Given the description of an element on the screen output the (x, y) to click on. 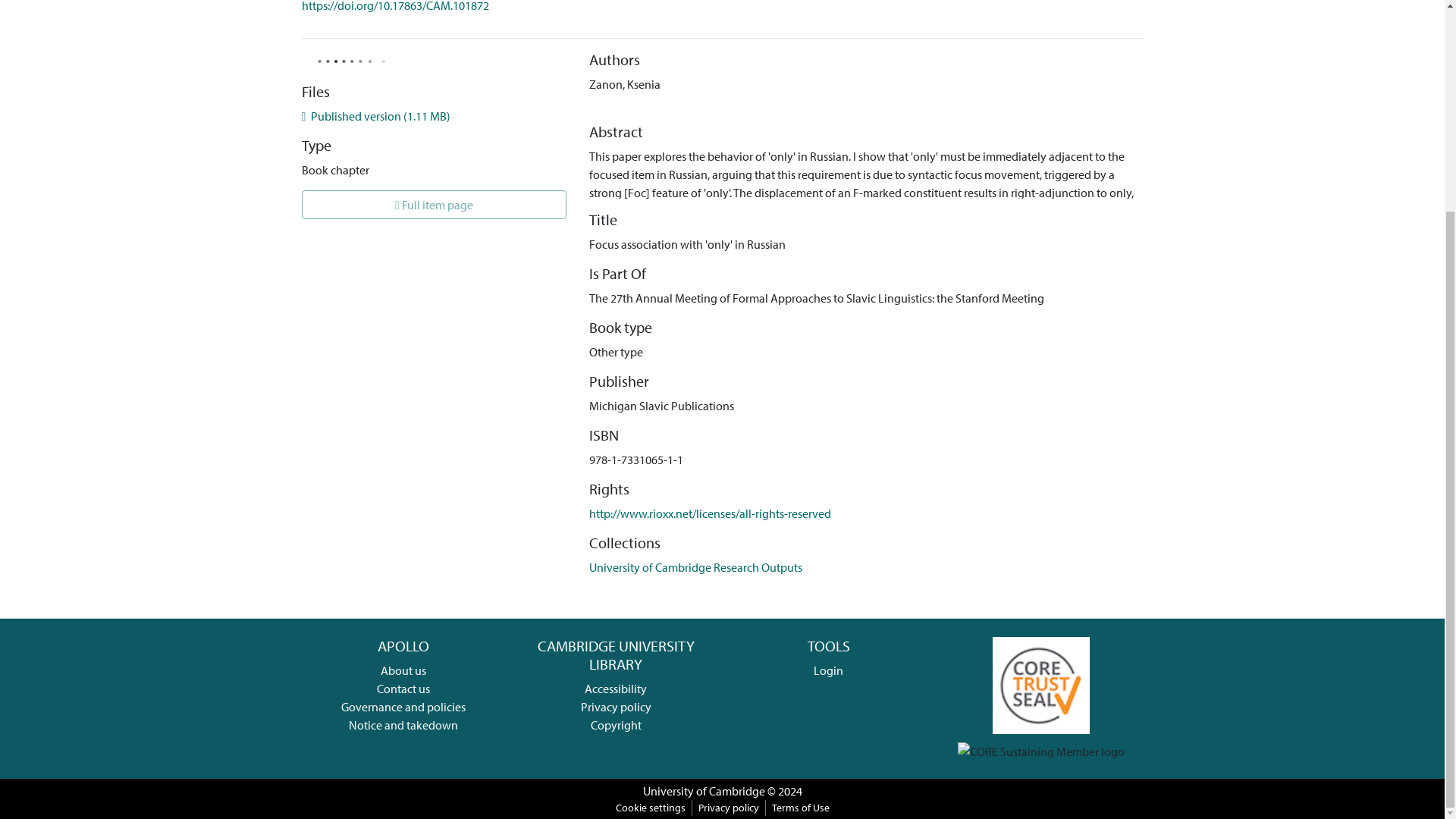
About us (403, 670)
Notice and takedown (403, 724)
Apollo CTS full application (1040, 683)
Contact us (403, 688)
Full item page (434, 204)
Accessibility (615, 688)
Governance and policies (402, 706)
Privacy policy (615, 706)
University of Cambridge Research Outputs (695, 566)
Login (828, 670)
